Given the description of an element on the screen output the (x, y) to click on. 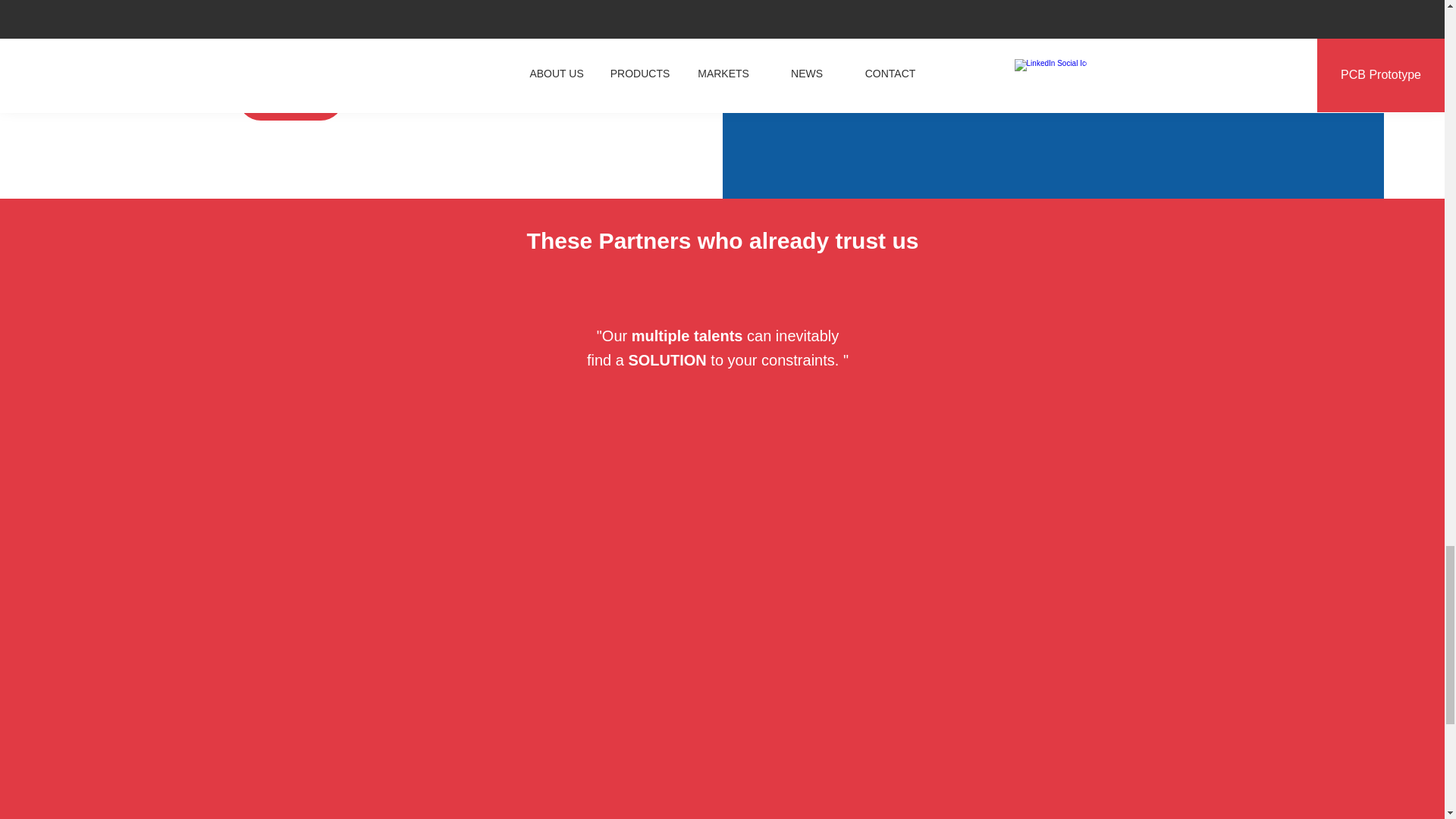
CONTACT (290, 97)
